Given the description of an element on the screen output the (x, y) to click on. 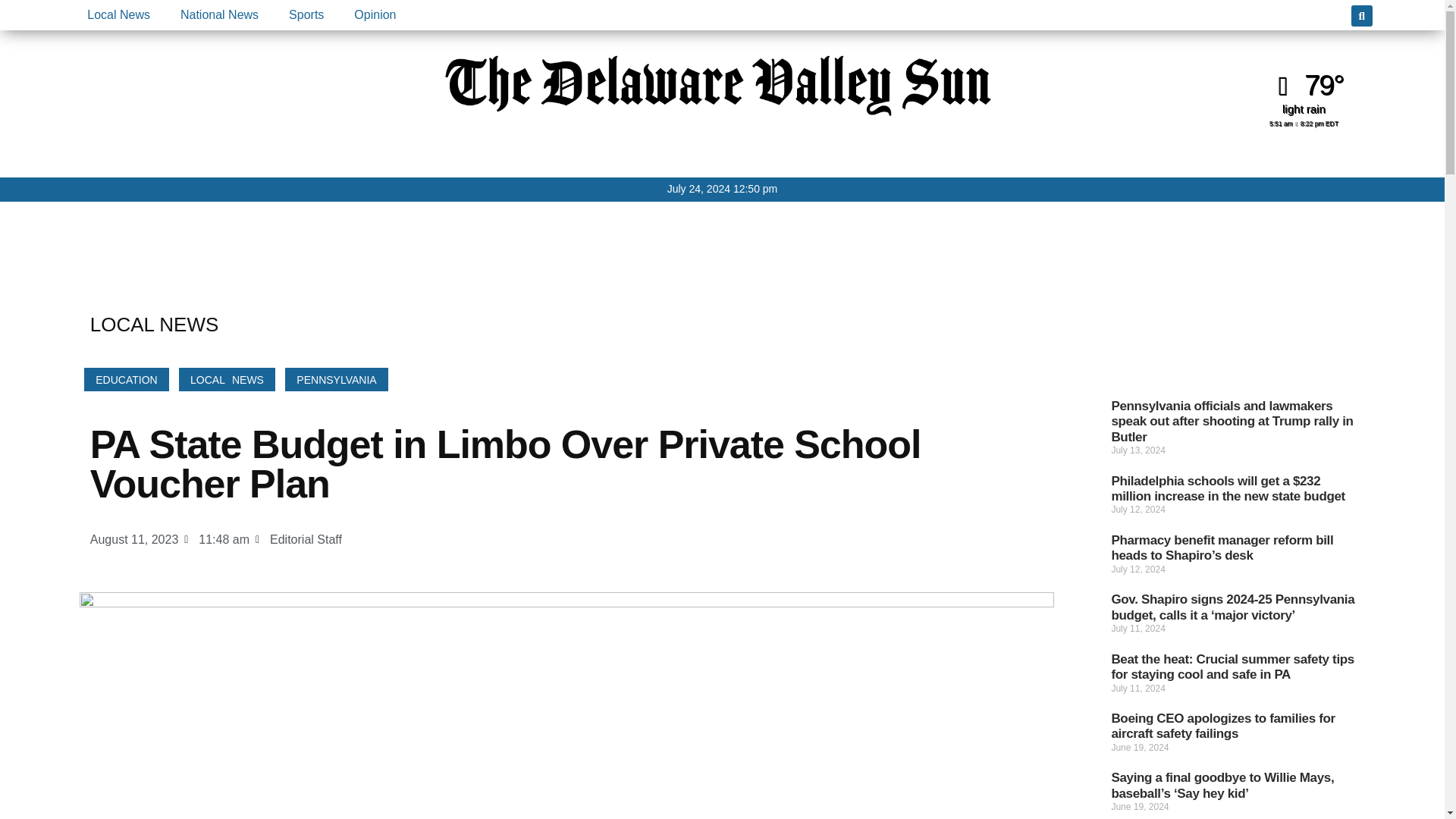
LOCAL NEWS (227, 379)
National News (219, 14)
Opinion (374, 14)
EDUCATION (126, 379)
PENNSYLVANIA (336, 379)
Local News (118, 14)
Sports (306, 14)
